Given the description of an element on the screen output the (x, y) to click on. 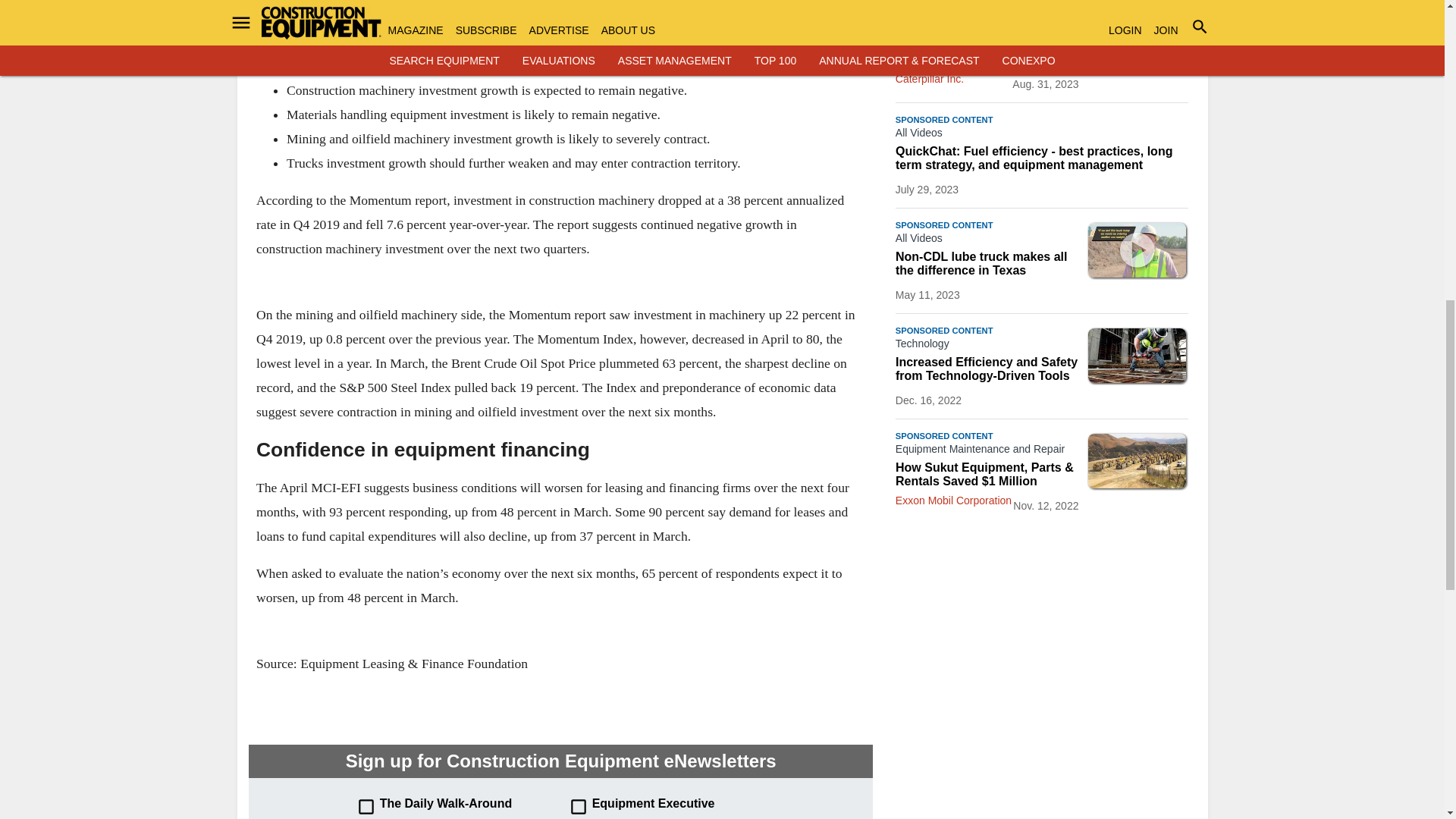
Screenshot 2023 08 30 124501 (1136, 39)
Maxresdefault 64596fb4d704a (1136, 249)
Feature Option 1 (1136, 355)
